Given the description of an element on the screen output the (x, y) to click on. 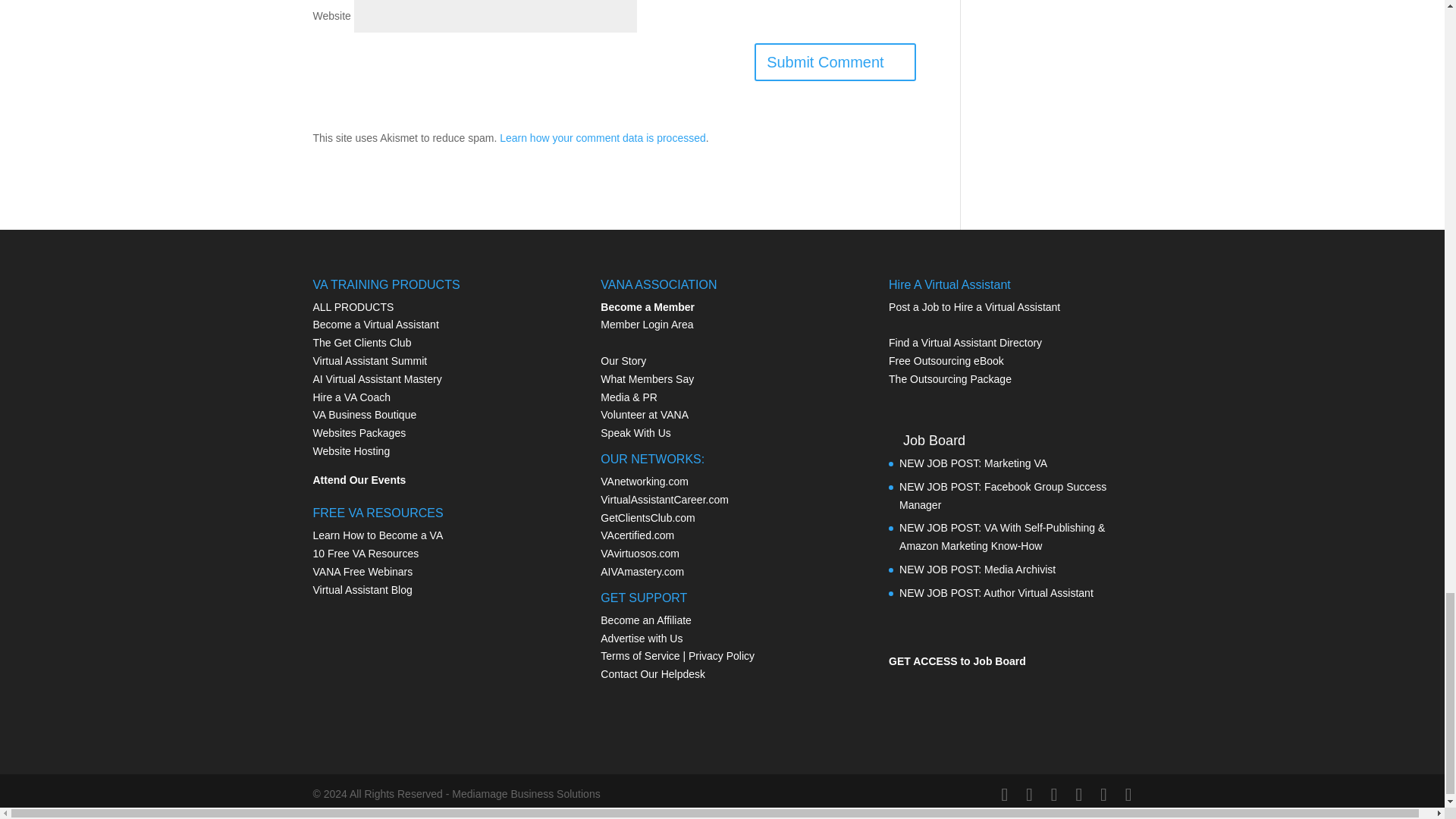
Submit Comment (834, 62)
Learn how your comment data is processed (602, 137)
Submit Comment (834, 62)
